Given the description of an element on the screen output the (x, y) to click on. 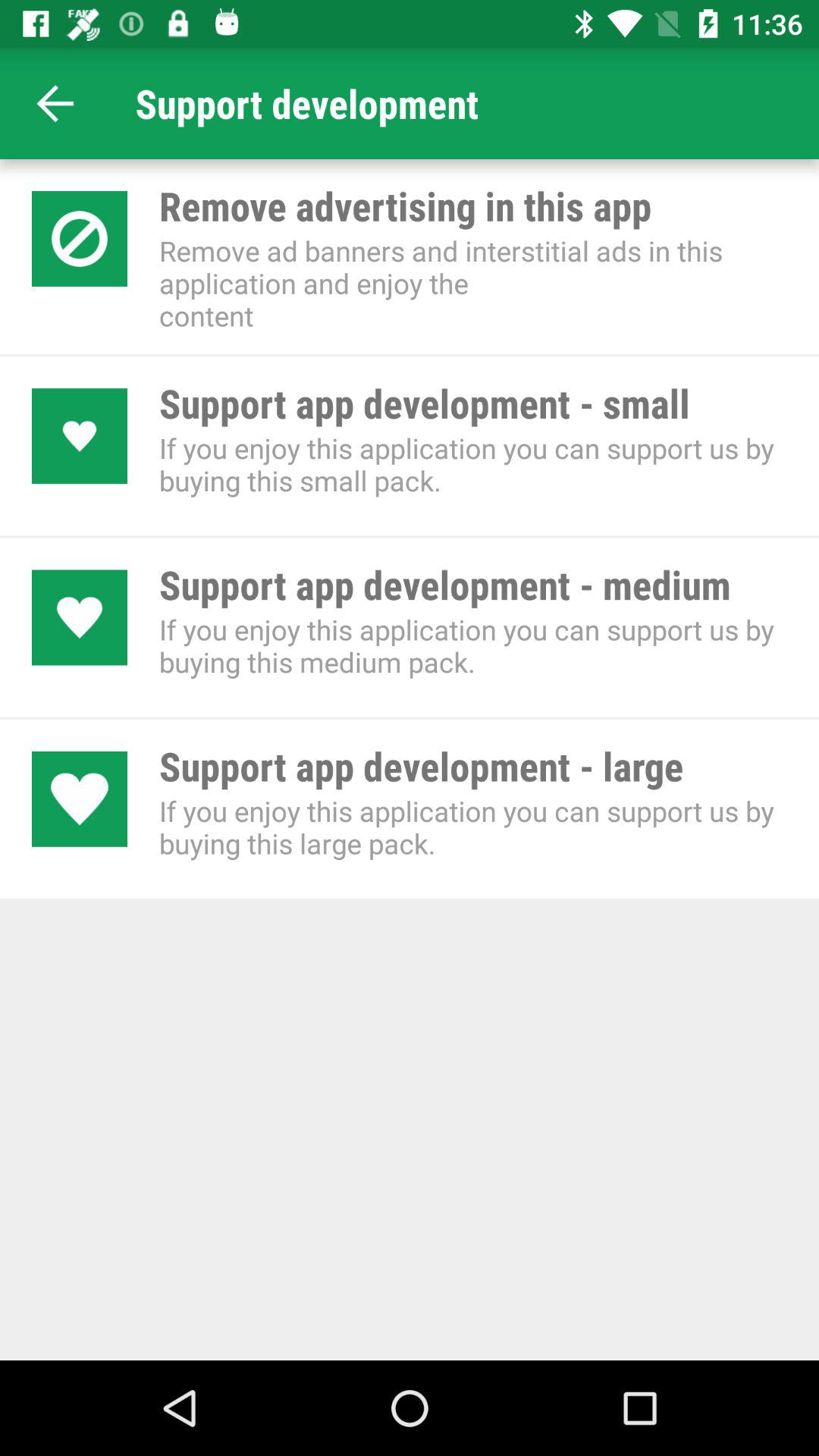
go back one screen from support development (55, 103)
